Given the description of an element on the screen output the (x, y) to click on. 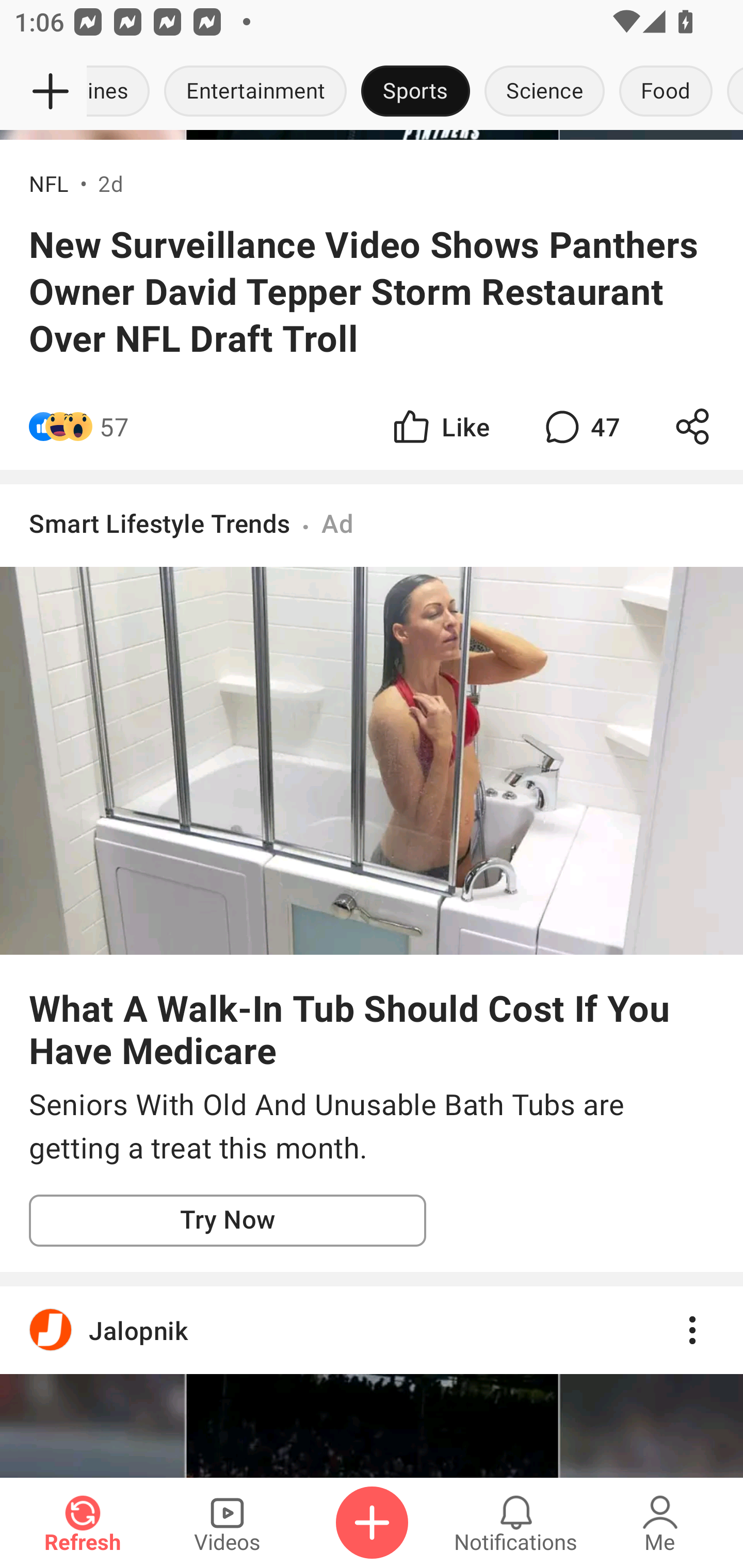
Headlines (121, 91)
Entertainment (254, 91)
Sports (415, 91)
Science (544, 91)
Food (665, 91)
57 (114, 426)
Like (439, 426)
47 (579, 426)
Smart Lifestyle Trends (159, 522)
Try Now (227, 1220)
Jalopnik (371, 1329)
Videos (227, 1522)
Notifications (516, 1522)
Me (659, 1522)
